Given the description of an element on the screen output the (x, y) to click on. 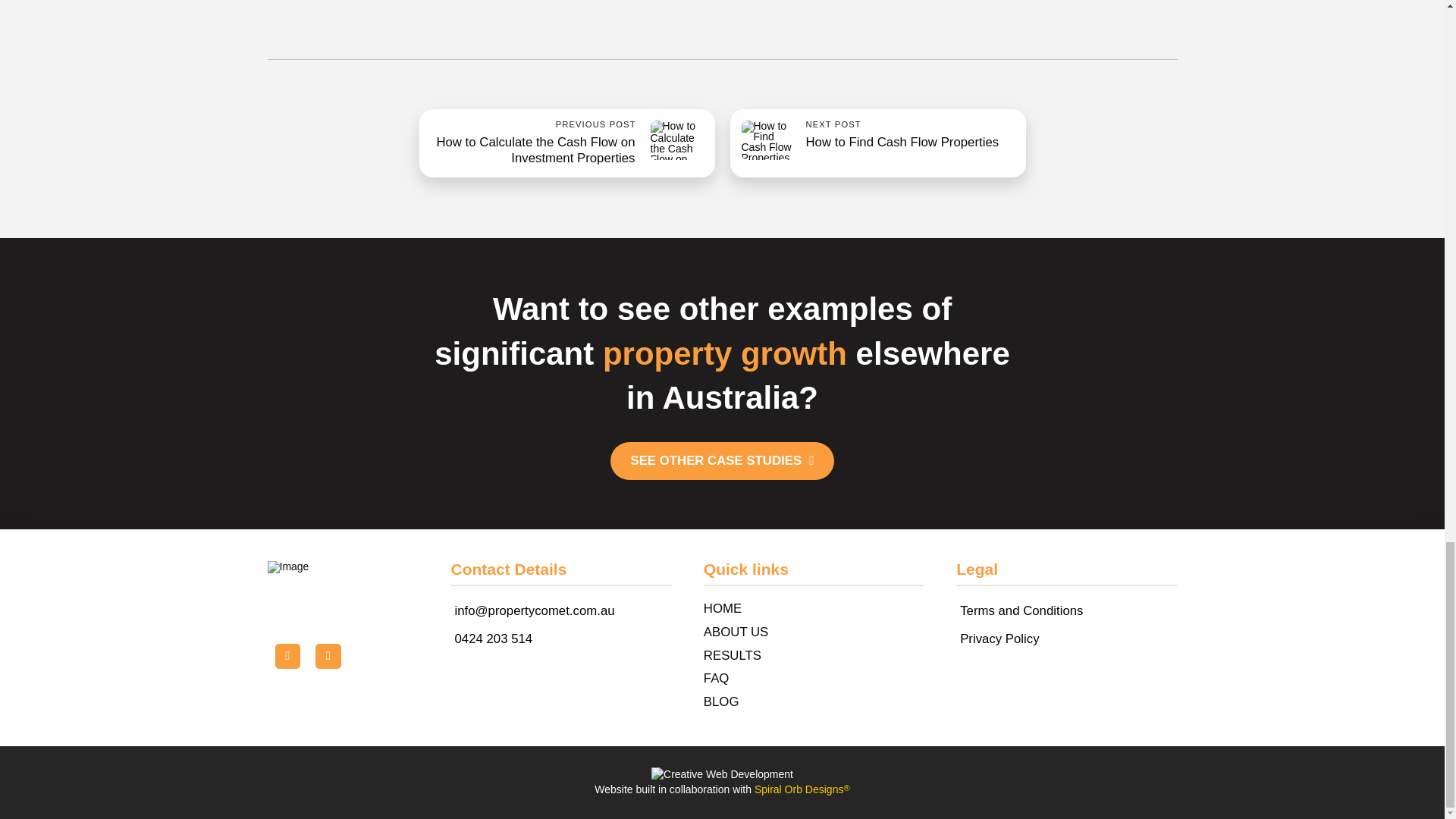
BLOG (813, 702)
Privacy Policy (999, 639)
HOME (813, 608)
RESULTS (813, 656)
ABOUT US (813, 632)
0424 203 514 (492, 639)
FAQ (869, 142)
Terms and Conditions (813, 679)
